Given the description of an element on the screen output the (x, y) to click on. 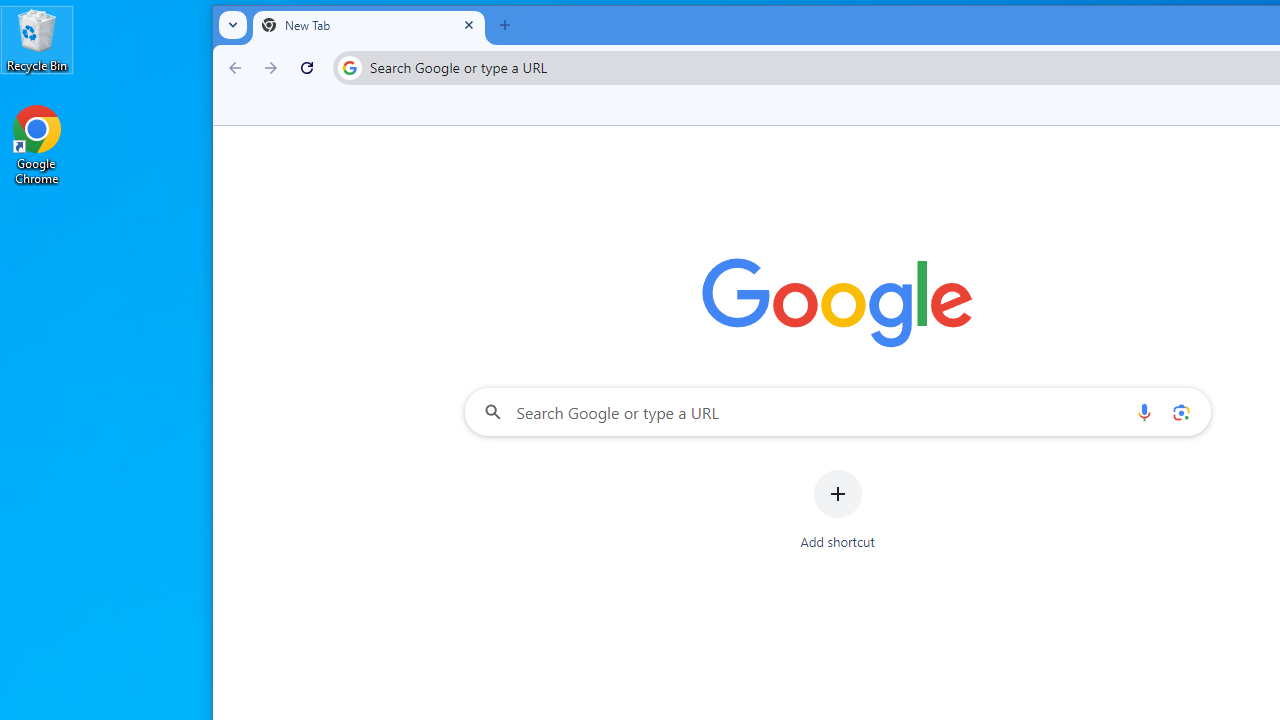
Google Chrome (37, 144)
Recycle Bin (37, 39)
